Given the description of an element on the screen output the (x, y) to click on. 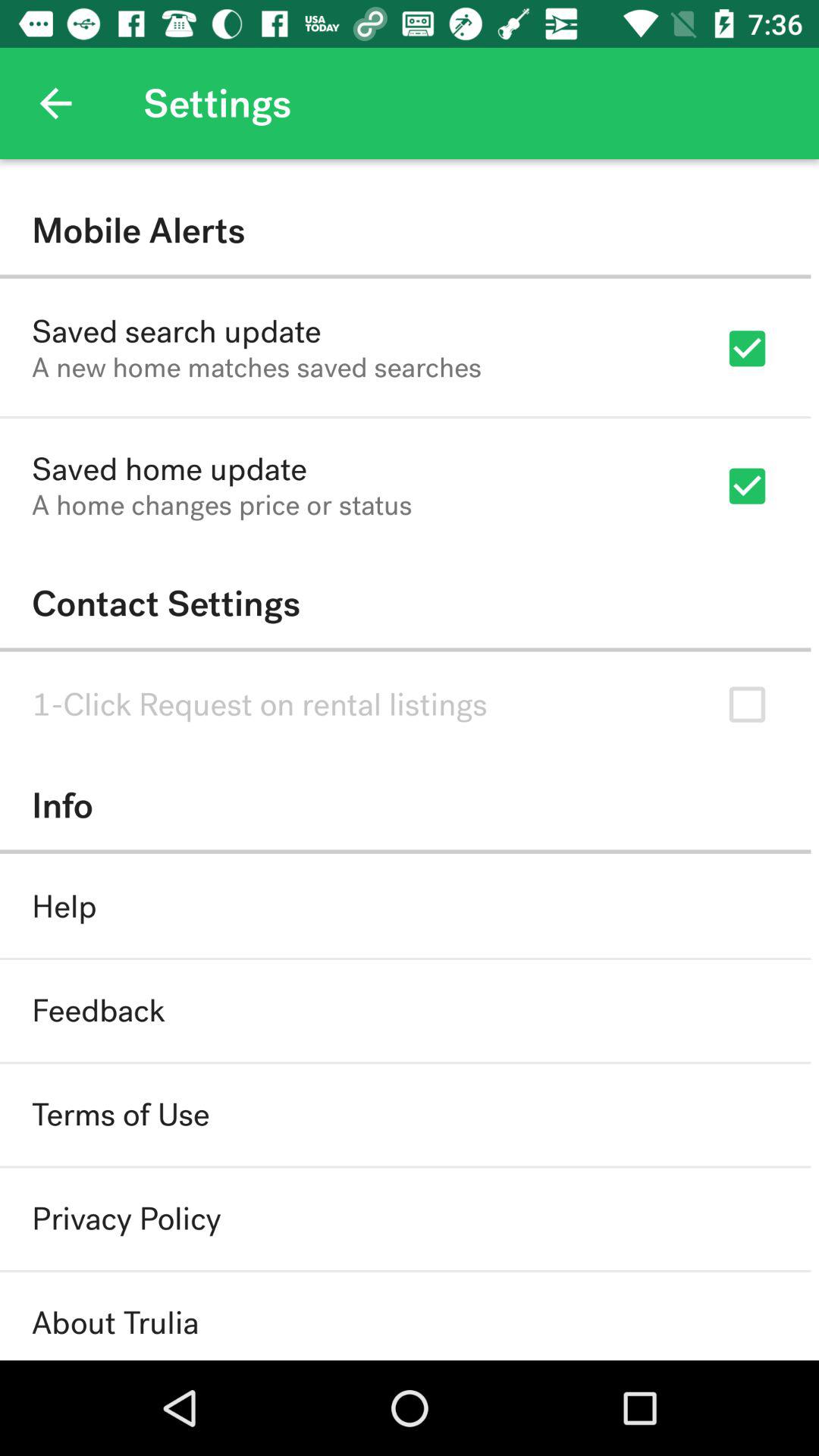
jump to help (63, 906)
